Given the description of an element on the screen output the (x, y) to click on. 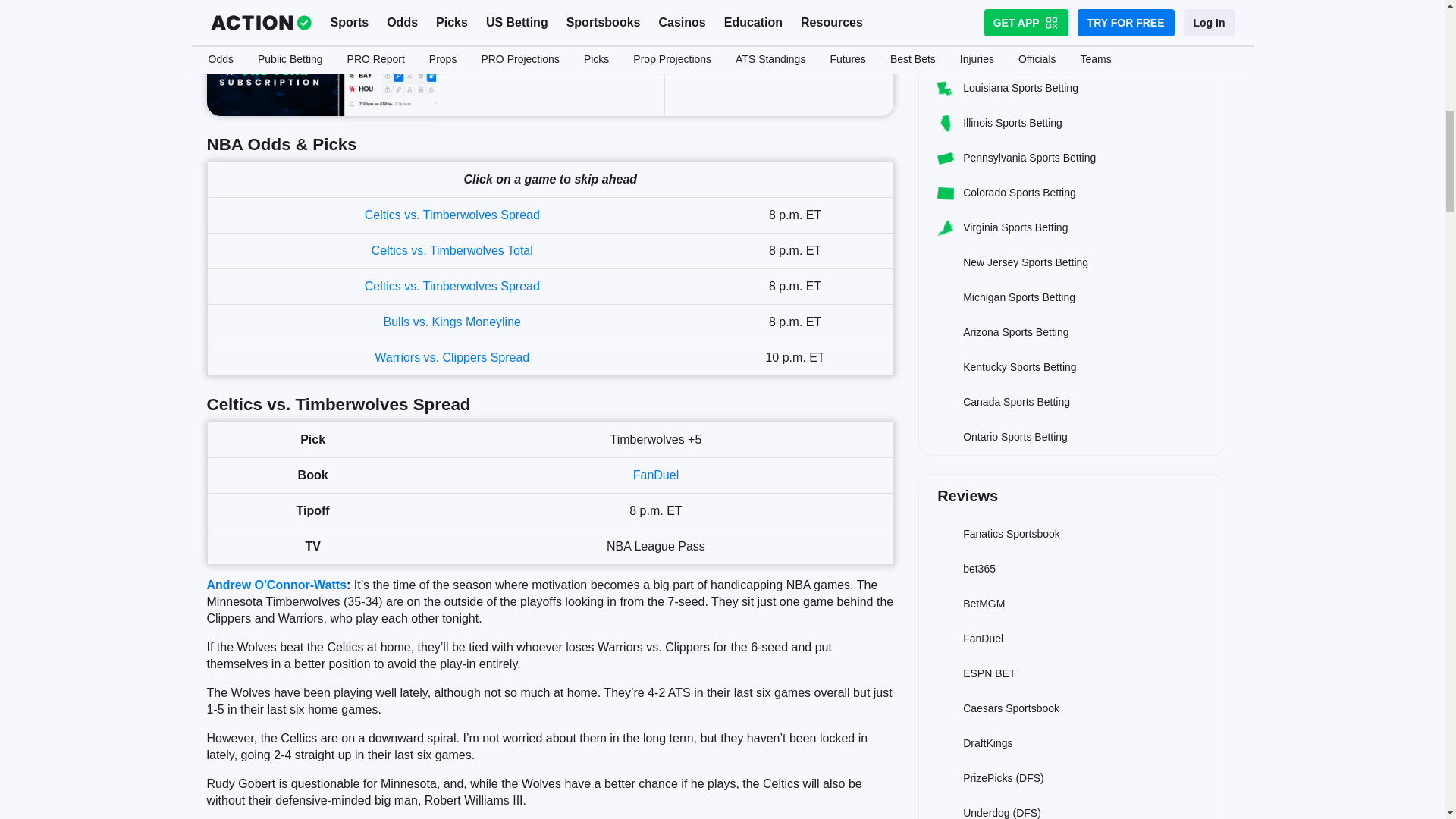
TAKE ADVANTAGE NOW! (779, 43)
Andrew O'Connor-Watts (276, 584)
FanDuel (655, 474)
Celtics vs. Timberwolves Spread (452, 214)
Warriors vs. Clippers Spread (451, 357)
Bulls vs. Kings Moneyline (452, 321)
Celtics vs. Timberwolves Spread (452, 286)
Celtics vs. Timberwolves Total (451, 250)
